Given the description of an element on the screen output the (x, y) to click on. 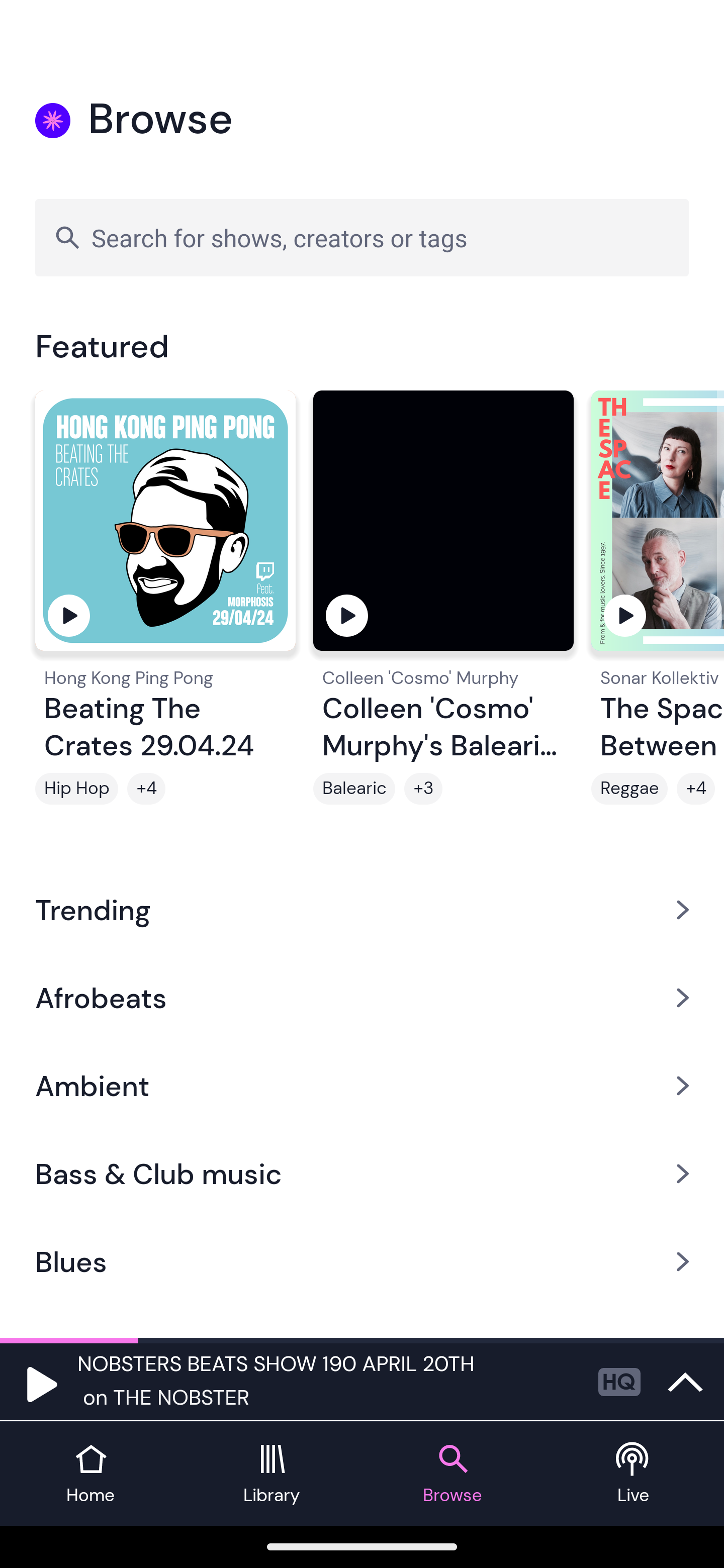
Search for shows, creators or tags (361, 237)
Hip Hop (76, 788)
Balearic (354, 788)
Reggae (629, 788)
Trending (361, 909)
Afrobeats (361, 997)
Ambient (361, 1085)
Bass & Club music (361, 1174)
Blues (361, 1262)
Home tab Home (90, 1473)
Library tab Library (271, 1473)
Browse tab Browse (452, 1473)
Live tab Live (633, 1473)
